Given the description of an element on the screen output the (x, y) to click on. 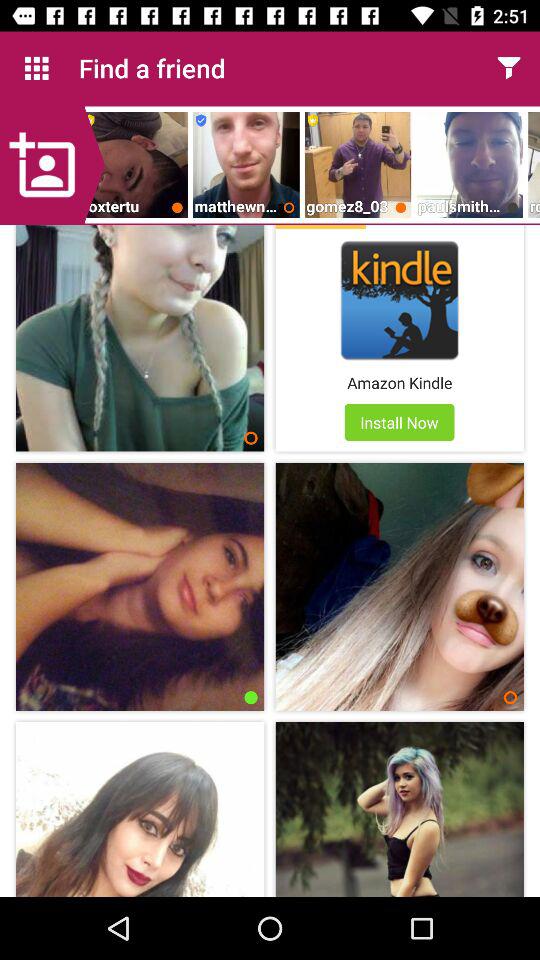
turn off sponsored app (320, 227)
